Given the description of an element on the screen output the (x, y) to click on. 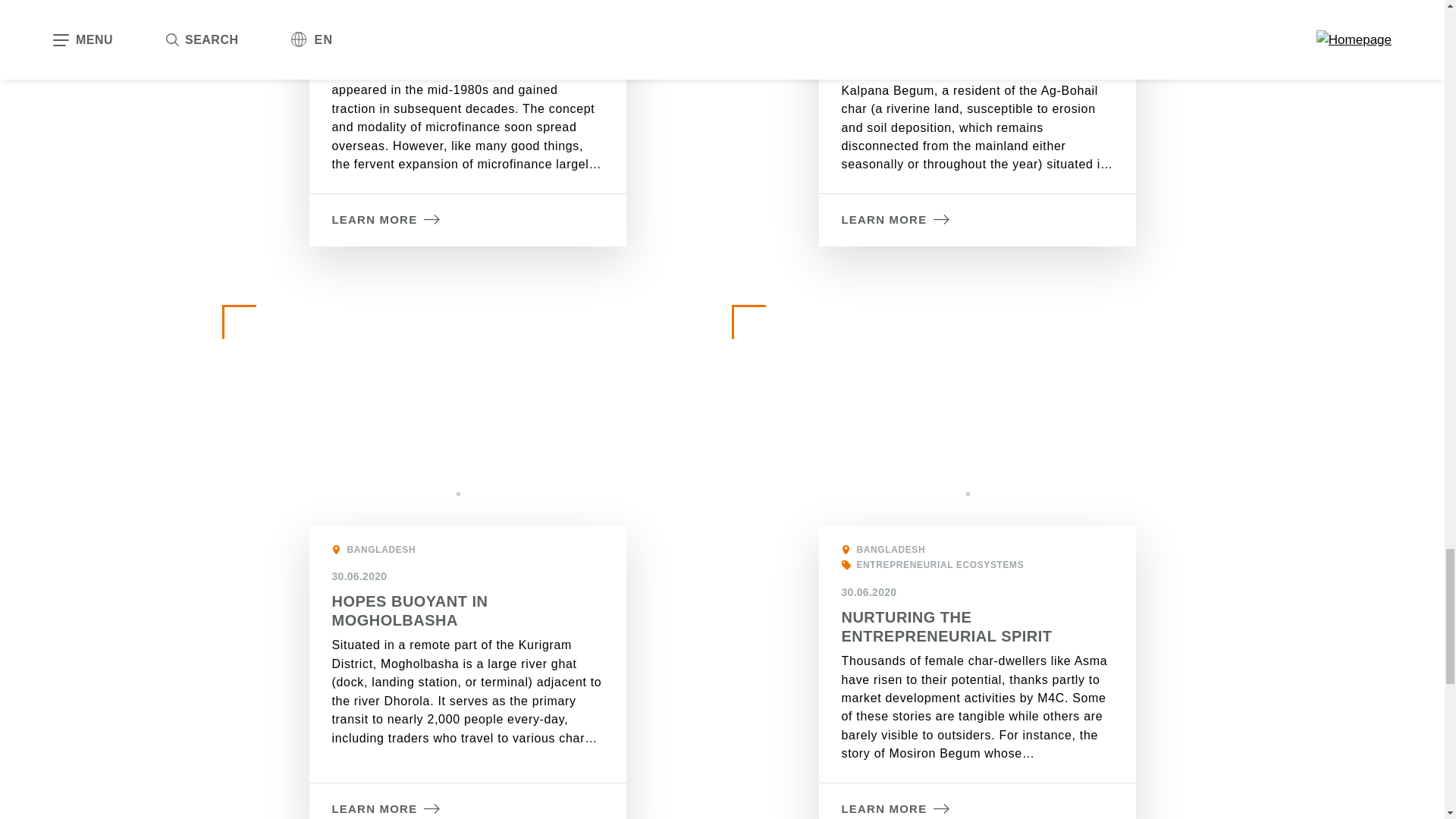
Learn more (895, 219)
Learn more (386, 219)
Learn more (386, 809)
Learn more (895, 809)
